Given the description of an element on the screen output the (x, y) to click on. 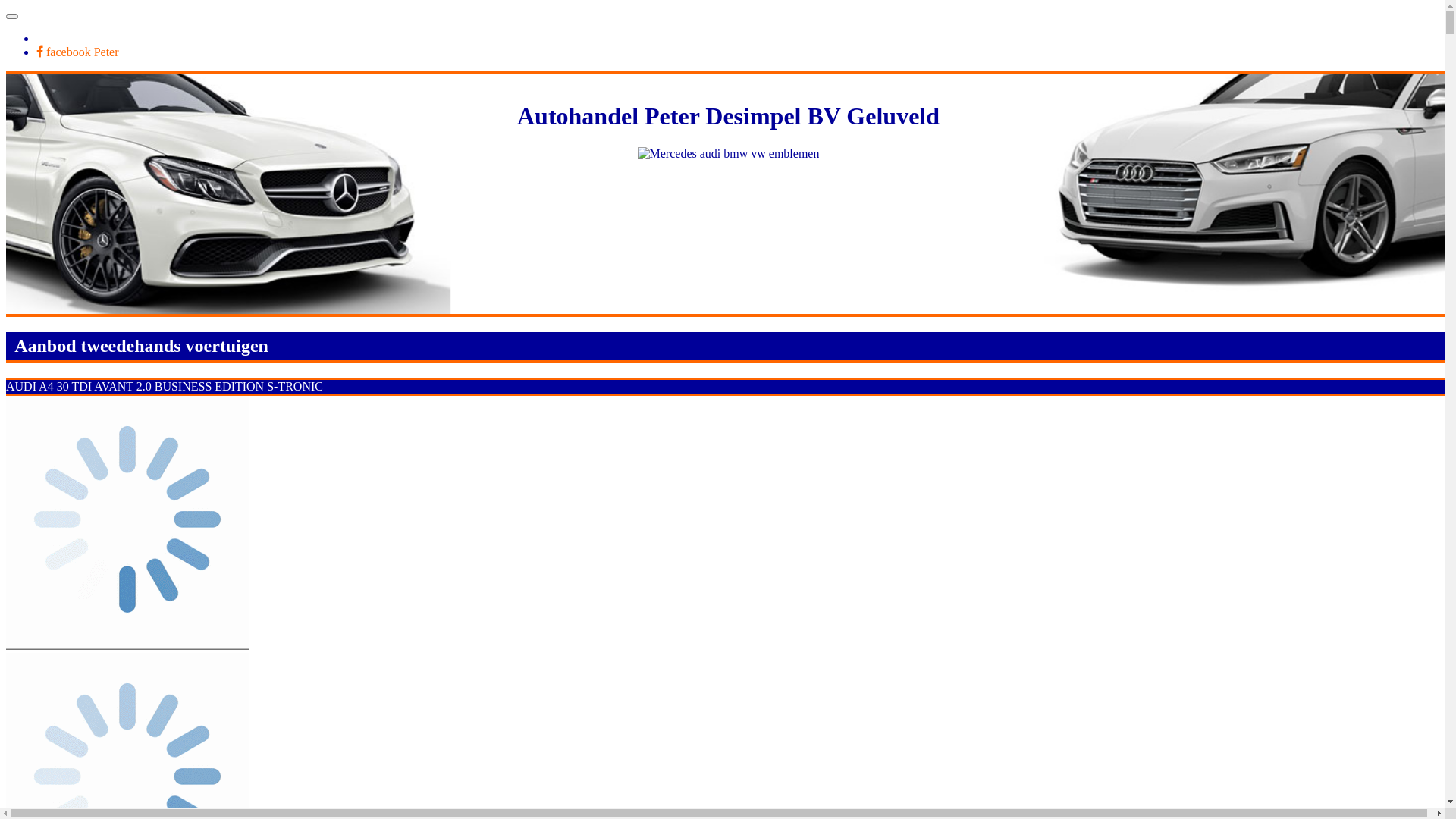
Autohandel Peter Element type: text (62, 12)
facebook Peter
(current) Element type: text (77, 51)
Aanbod wagens
(current) Element type: text (75, 37)
